Given the description of an element on the screen output the (x, y) to click on. 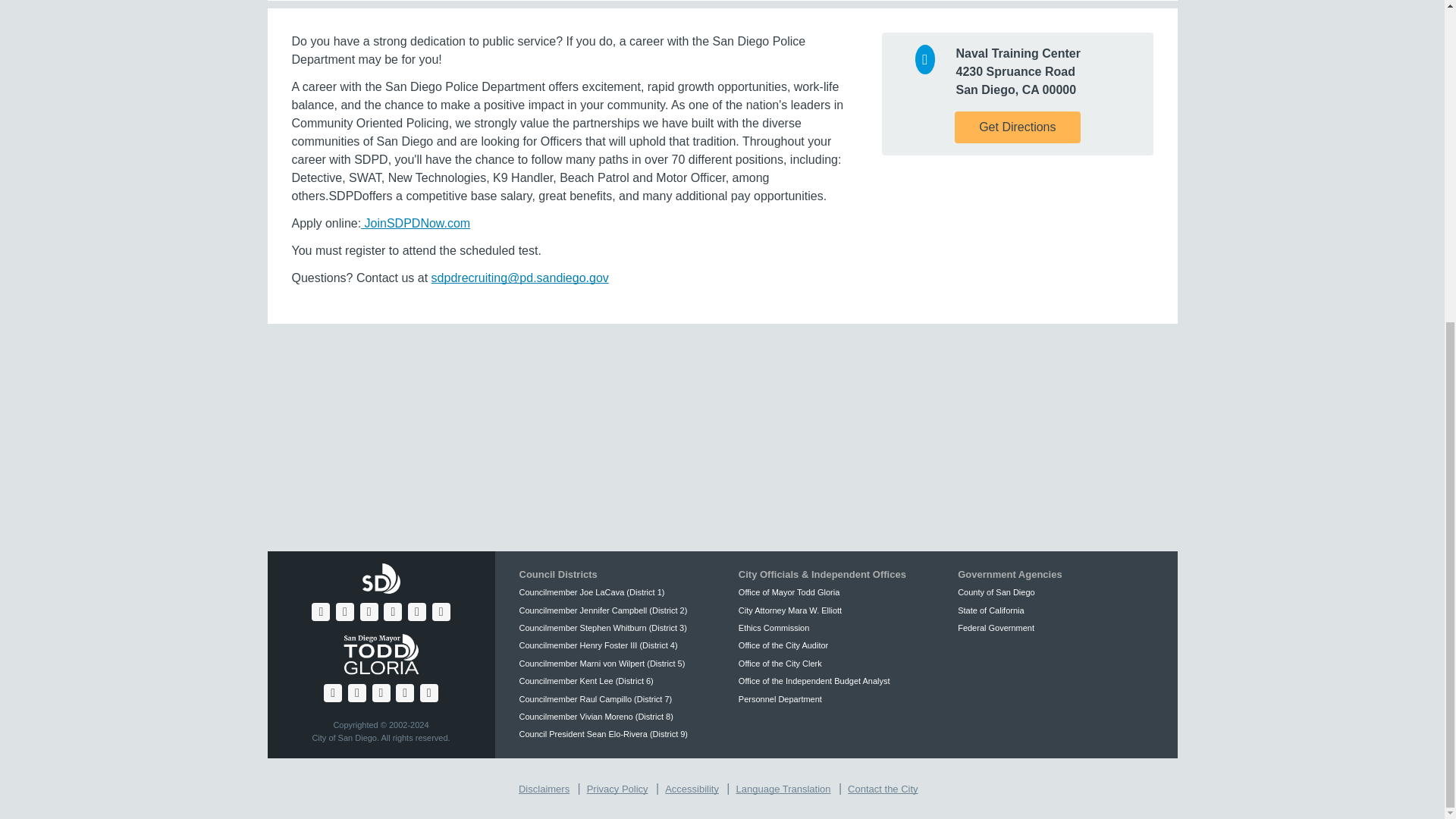
Instagram (392, 611)
Nextdoor (416, 611)
YouTube (368, 611)
LinkedIn (440, 611)
Twitter (344, 611)
Facebook (320, 611)
